Given the description of an element on the screen output the (x, y) to click on. 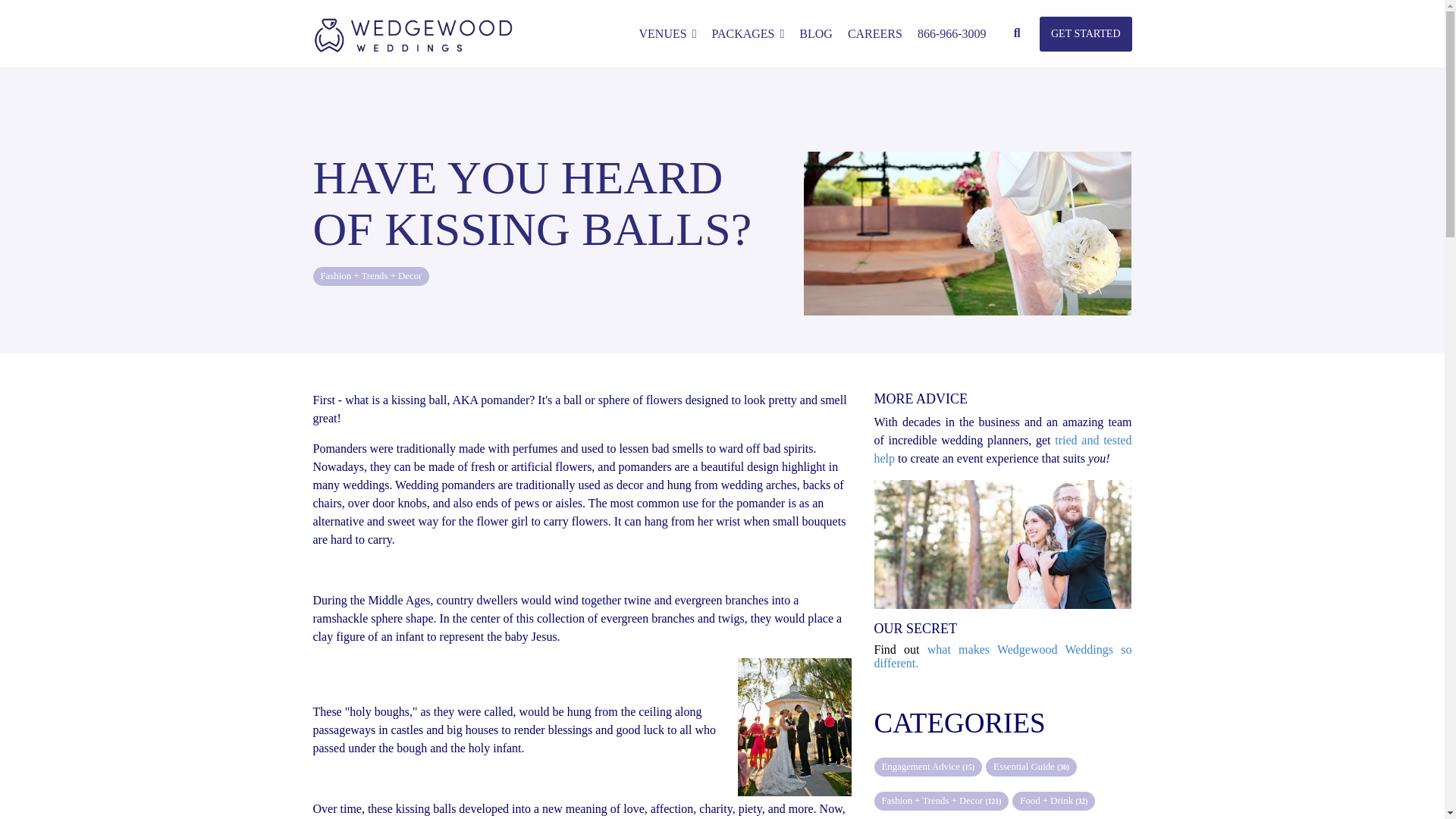
PACKAGES (747, 33)
VENUES (668, 33)
866-966-3009 (952, 33)
GET STARTED (1085, 33)
CAREERS (874, 33)
Get Started (1085, 33)
BLOG (815, 33)
Wedgewood Weddings - Remarkable Special Occasions (413, 34)
